Given the description of an element on the screen output the (x, y) to click on. 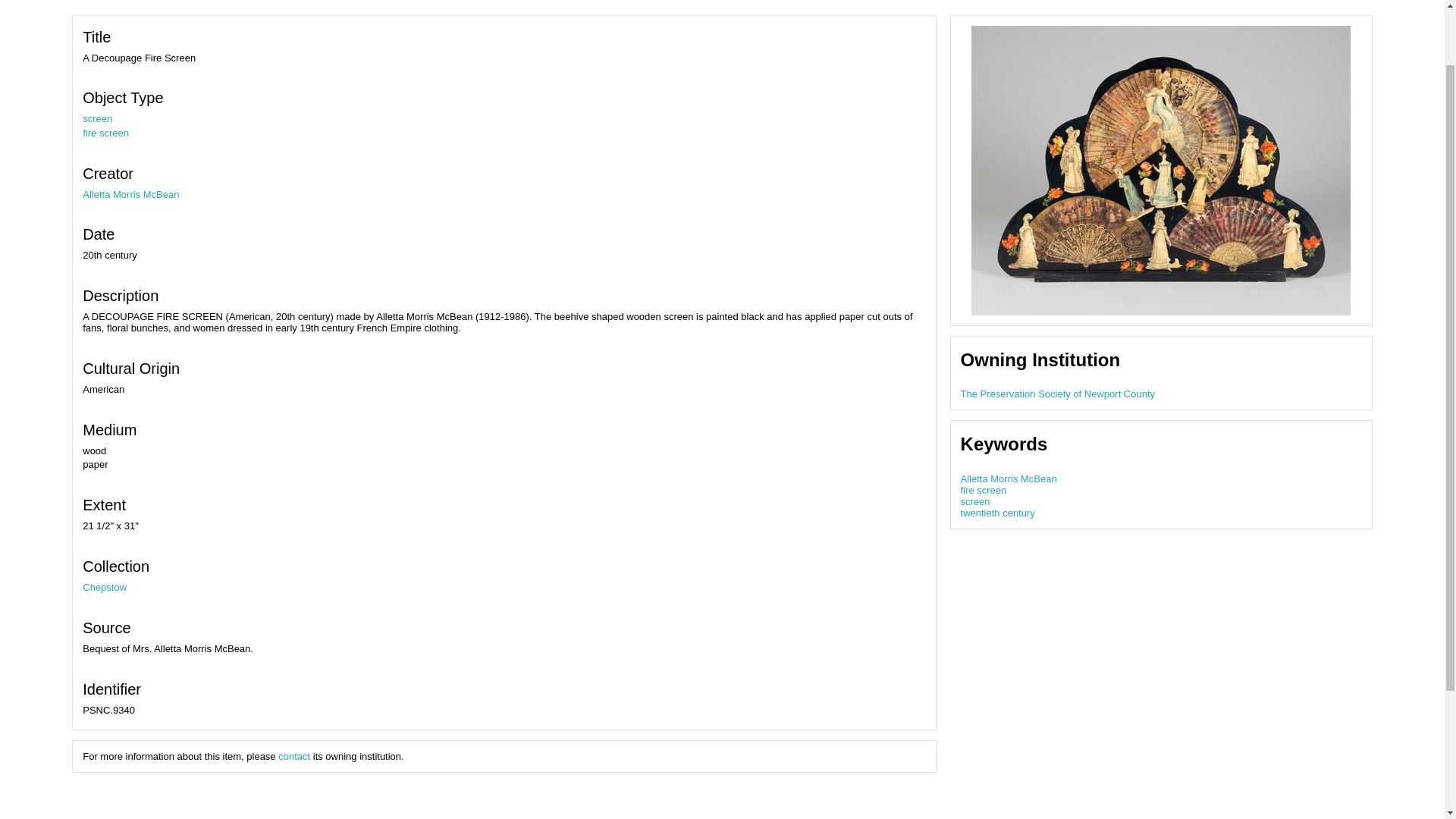
The Preservation Society of Newport County (1058, 393)
fire screen (983, 490)
fire screen (105, 132)
Alletta Morris McBean (1008, 478)
Alletta Morris McBean (130, 193)
Chepstow (104, 586)
screen (97, 118)
twentieth century (997, 512)
screen (975, 501)
contact (294, 756)
